Given the description of an element on the screen output the (x, y) to click on. 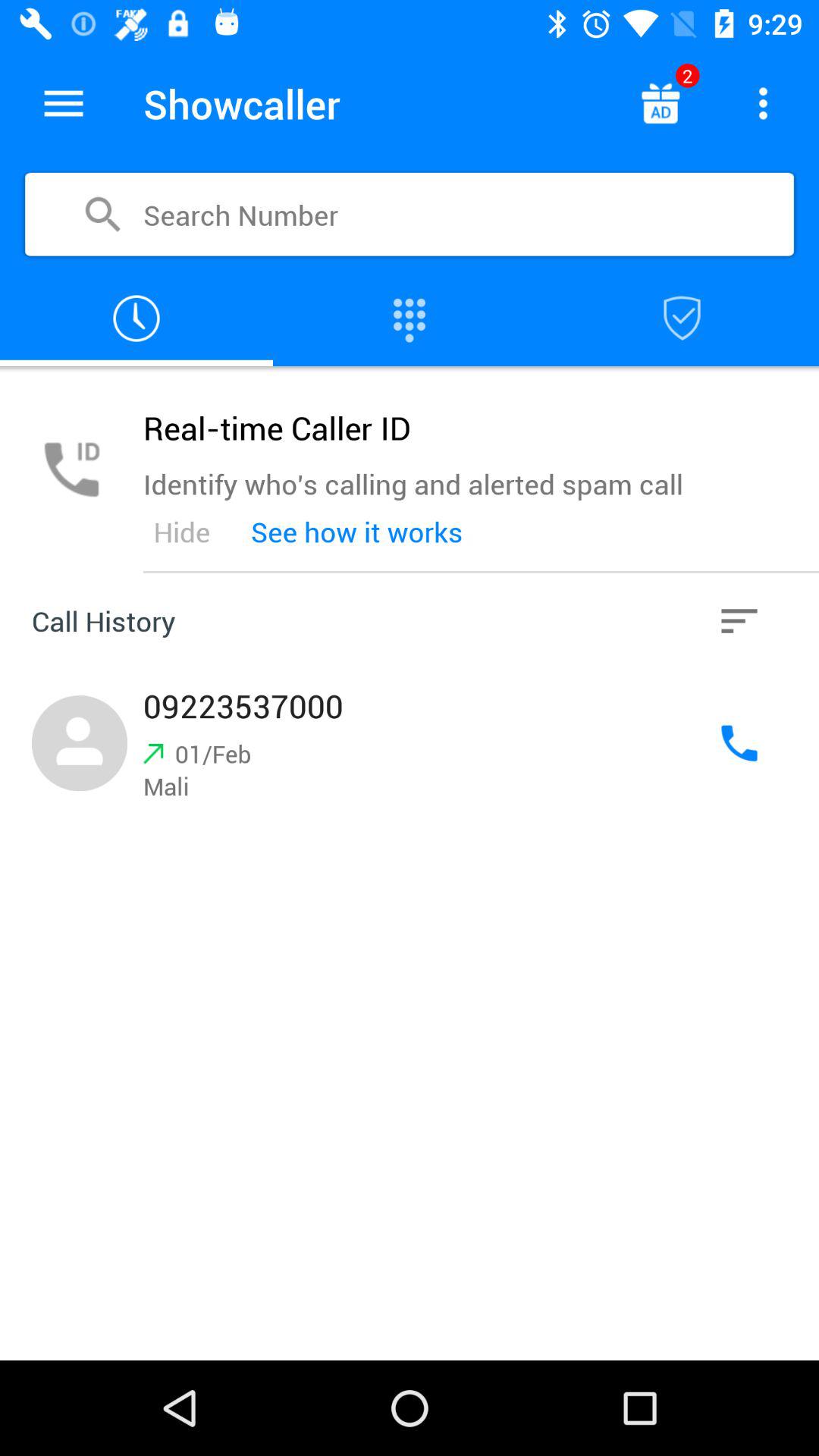
edit option (63, 103)
